Given the description of an element on the screen output the (x, y) to click on. 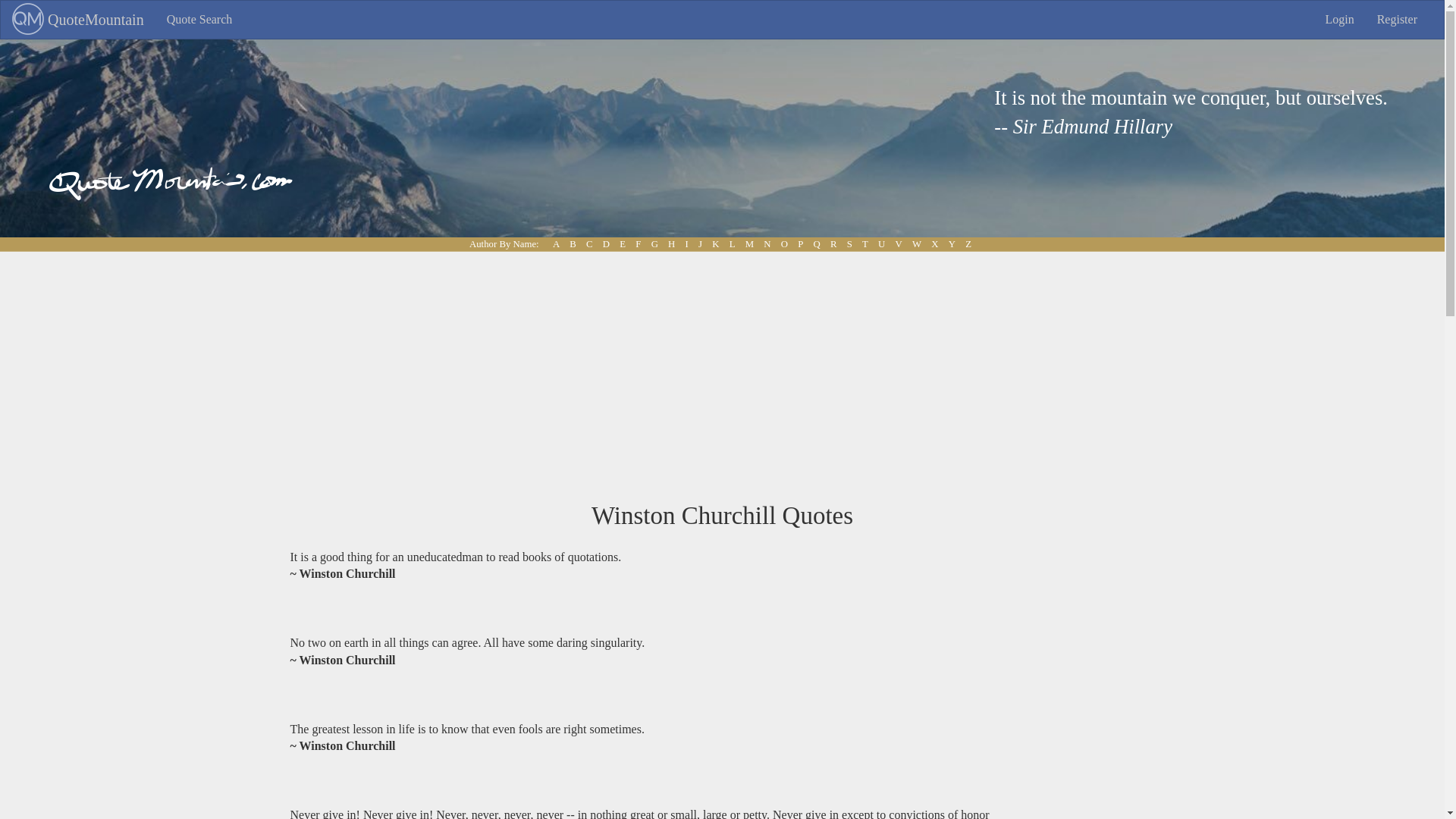
Login (1339, 19)
Quote Search (199, 19)
Advertisement (1097, 621)
Register (1396, 19)
QuoteMountain (78, 19)
W (916, 244)
